Given the description of an element on the screen output the (x, y) to click on. 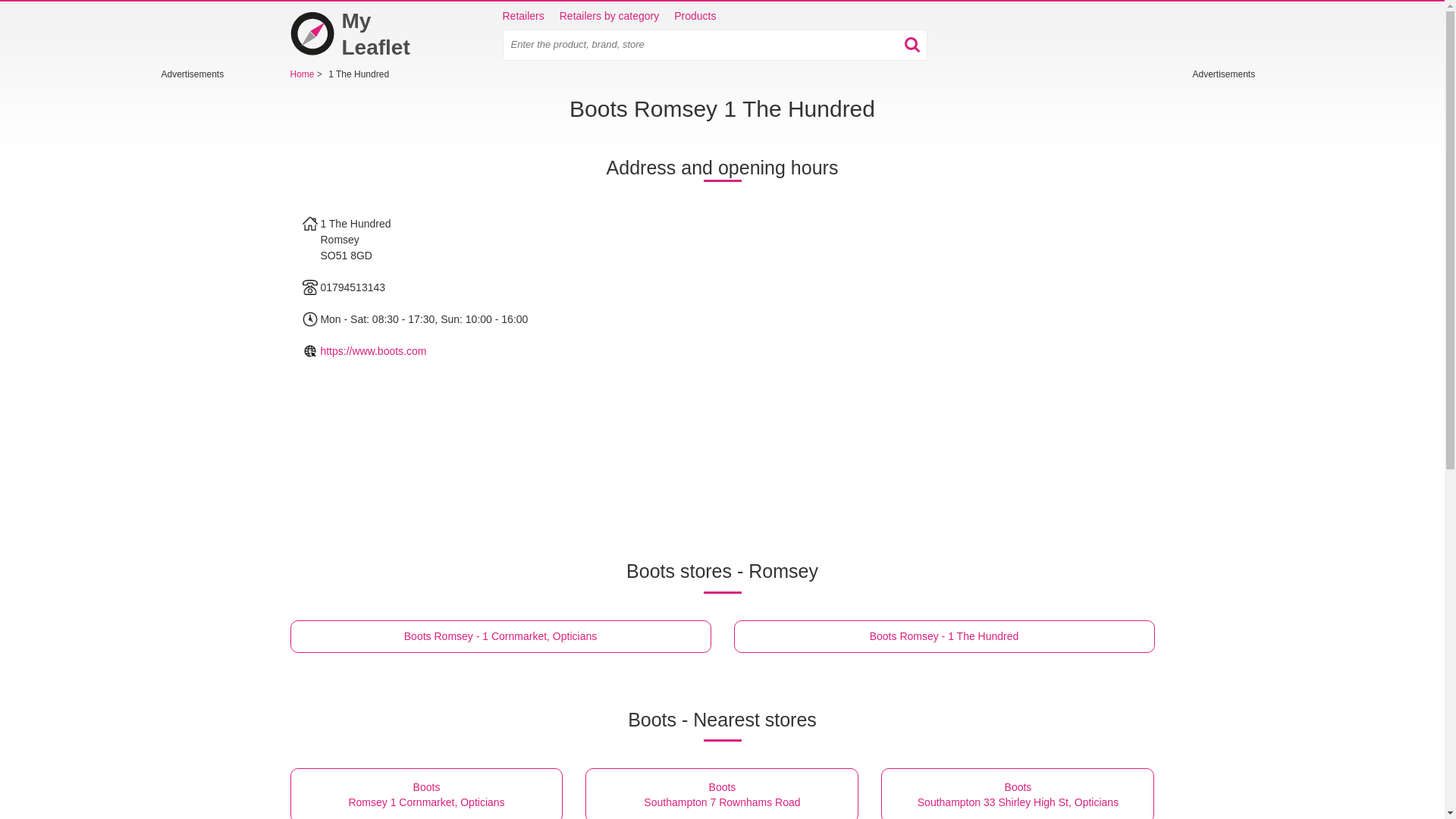
My Leaflet (365, 33)
Home (302, 73)
Retailers (425, 793)
Boots Romsey - 1 The Hundred (722, 793)
Products (522, 16)
Home (943, 635)
Boots Romsey - 1 Cornmarket, Opticians (695, 16)
Retailers by category (365, 33)
